Given the description of an element on the screen output the (x, y) to click on. 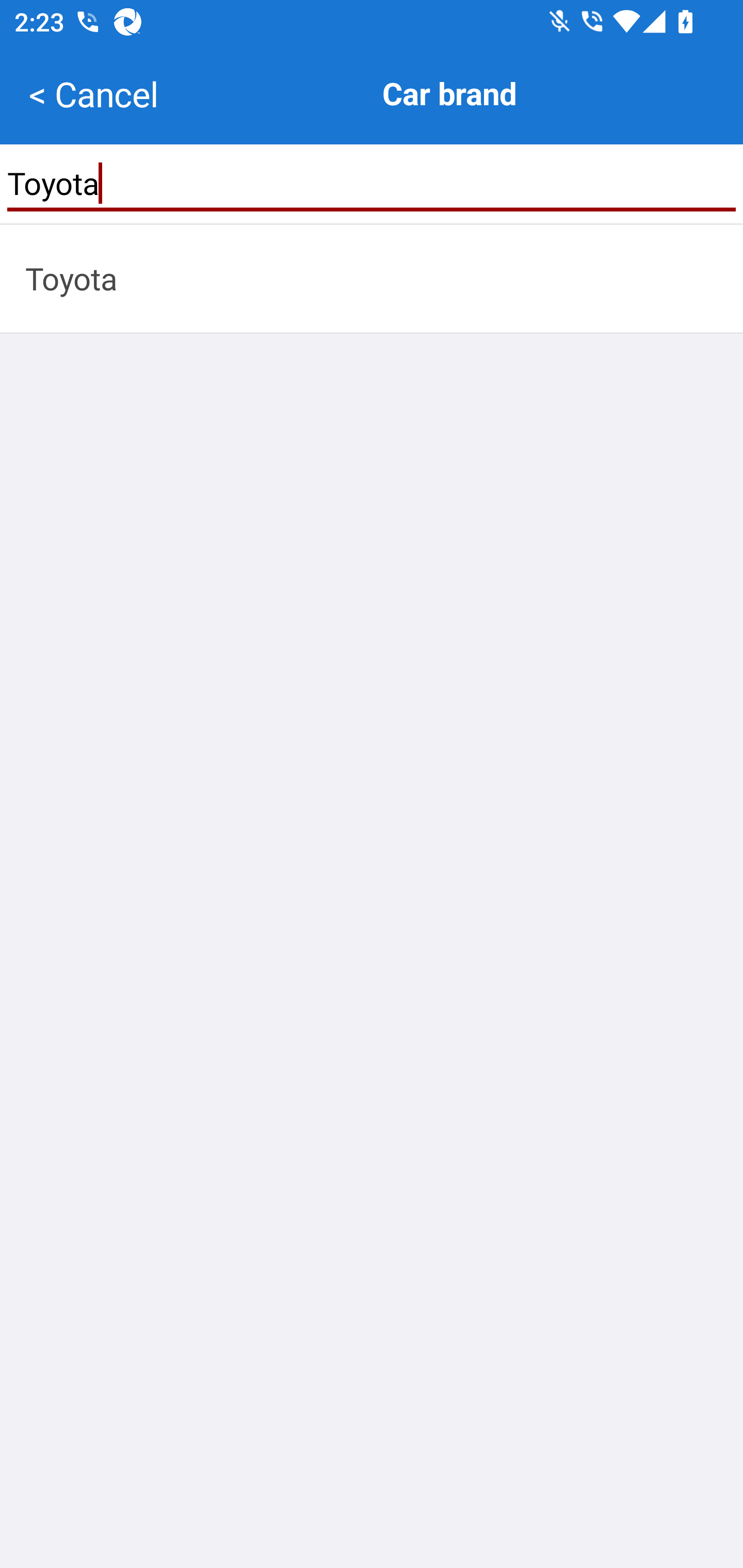
< Cancel (93, 93)
Toyota (371, 183)
Toyota (371, 278)
